Given the description of an element on the screen output the (x, y) to click on. 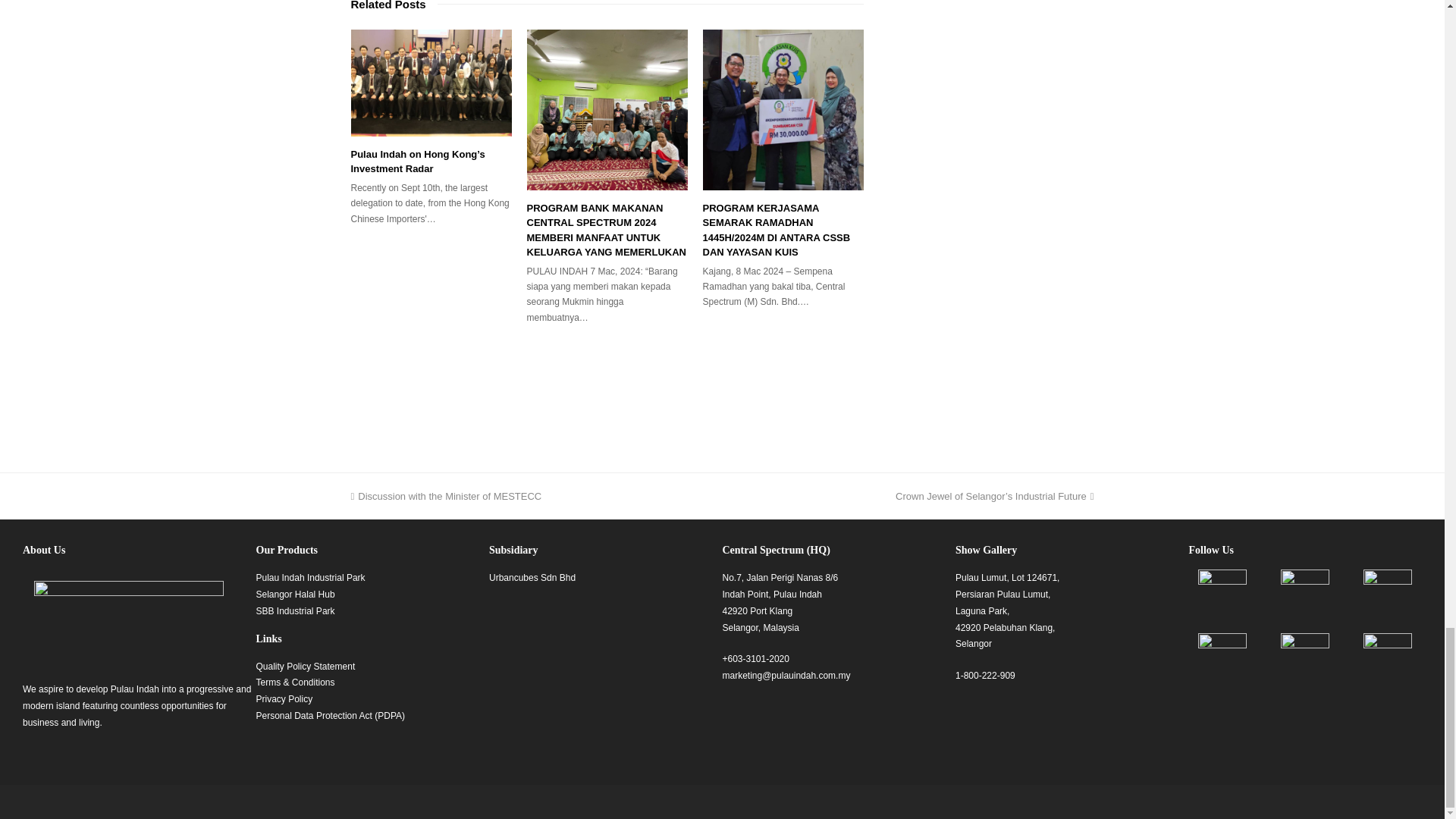
Email (786, 675)
Central-Spectrum-new-logo-2020 (128, 624)
